Given the description of an element on the screen output the (x, y) to click on. 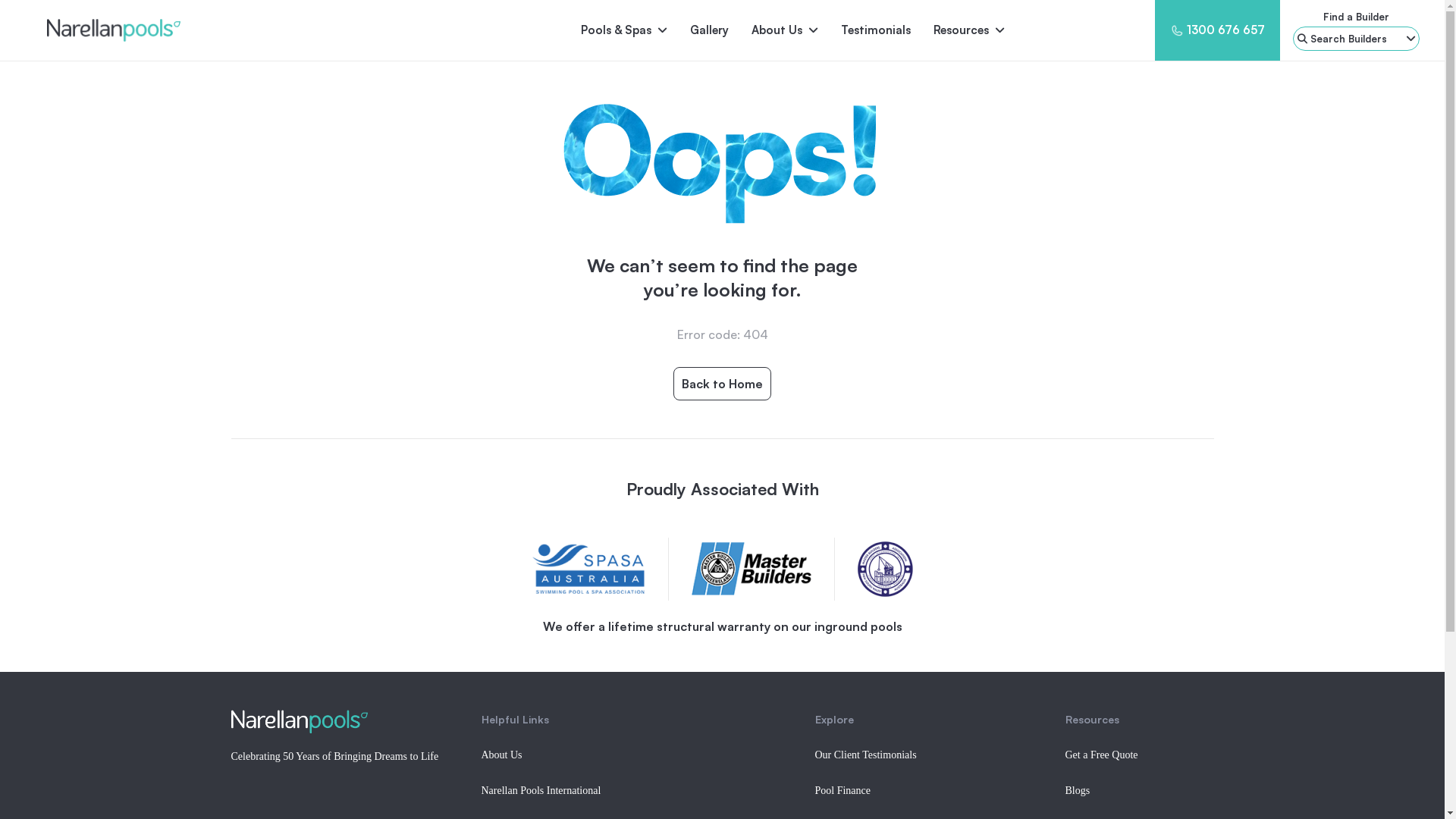
1300 676 657 Element type: text (1225, 29)
Get a Free Quote Element type: text (1100, 754)
Search Builders Element type: text (1355, 38)
About Us Element type: text (500, 754)
Testimonials Element type: text (875, 30)
Back to Home Element type: text (722, 383)
Blogs Element type: text (1076, 790)
About Us Element type: text (784, 30)
Our Client Testimonials Element type: text (865, 754)
Resources Element type: text (969, 30)
Gallery Element type: text (709, 30)
Narellan Pools Element type: text (83, 29)
Narellan Pools International Element type: text (540, 790)
Pools & Spas Element type: text (623, 30)
Pool Finance Element type: text (842, 790)
